Given the description of an element on the screen output the (x, y) to click on. 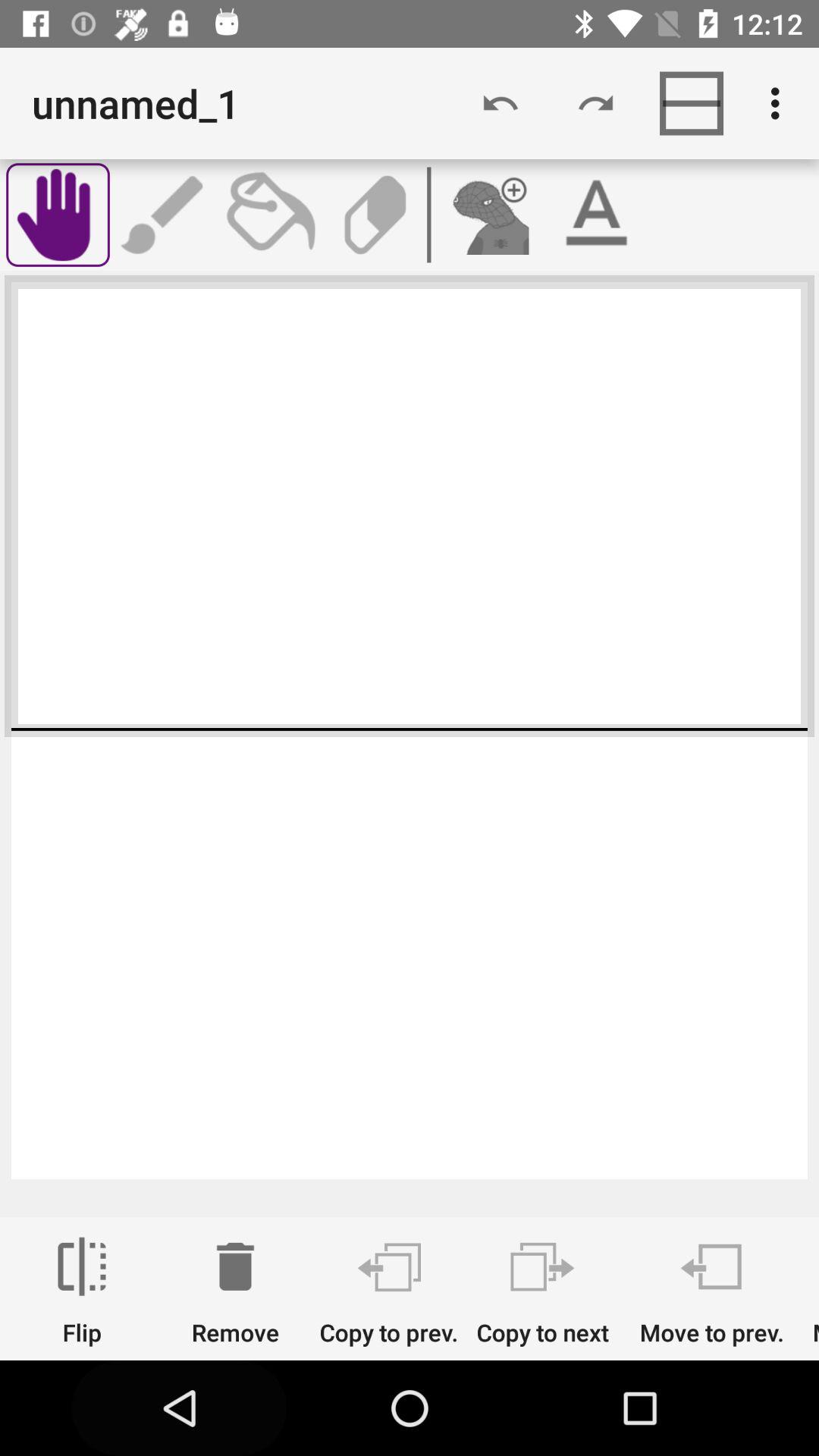
turn on icon to the right of the flip item (235, 1291)
